Given the description of an element on the screen output the (x, y) to click on. 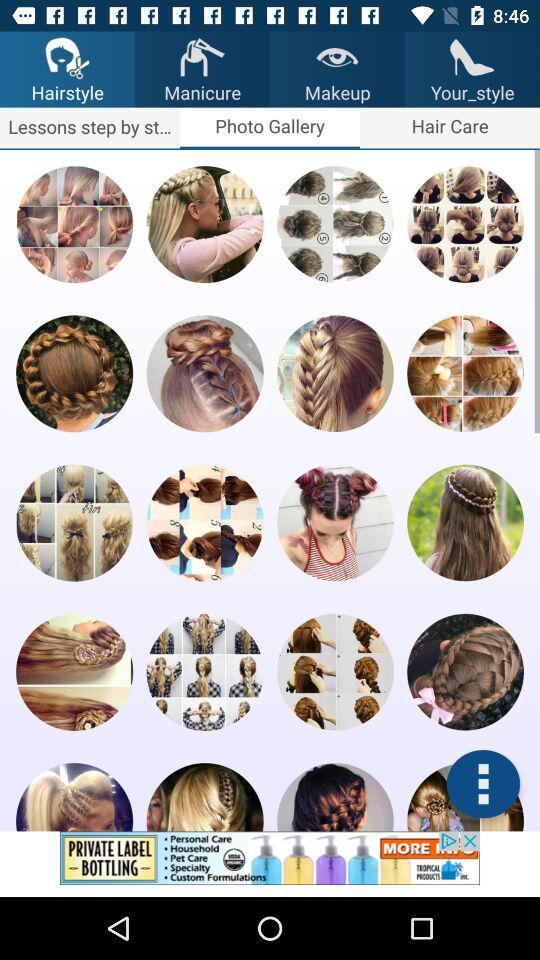
hair design (465, 224)
